Given the description of an element on the screen output the (x, y) to click on. 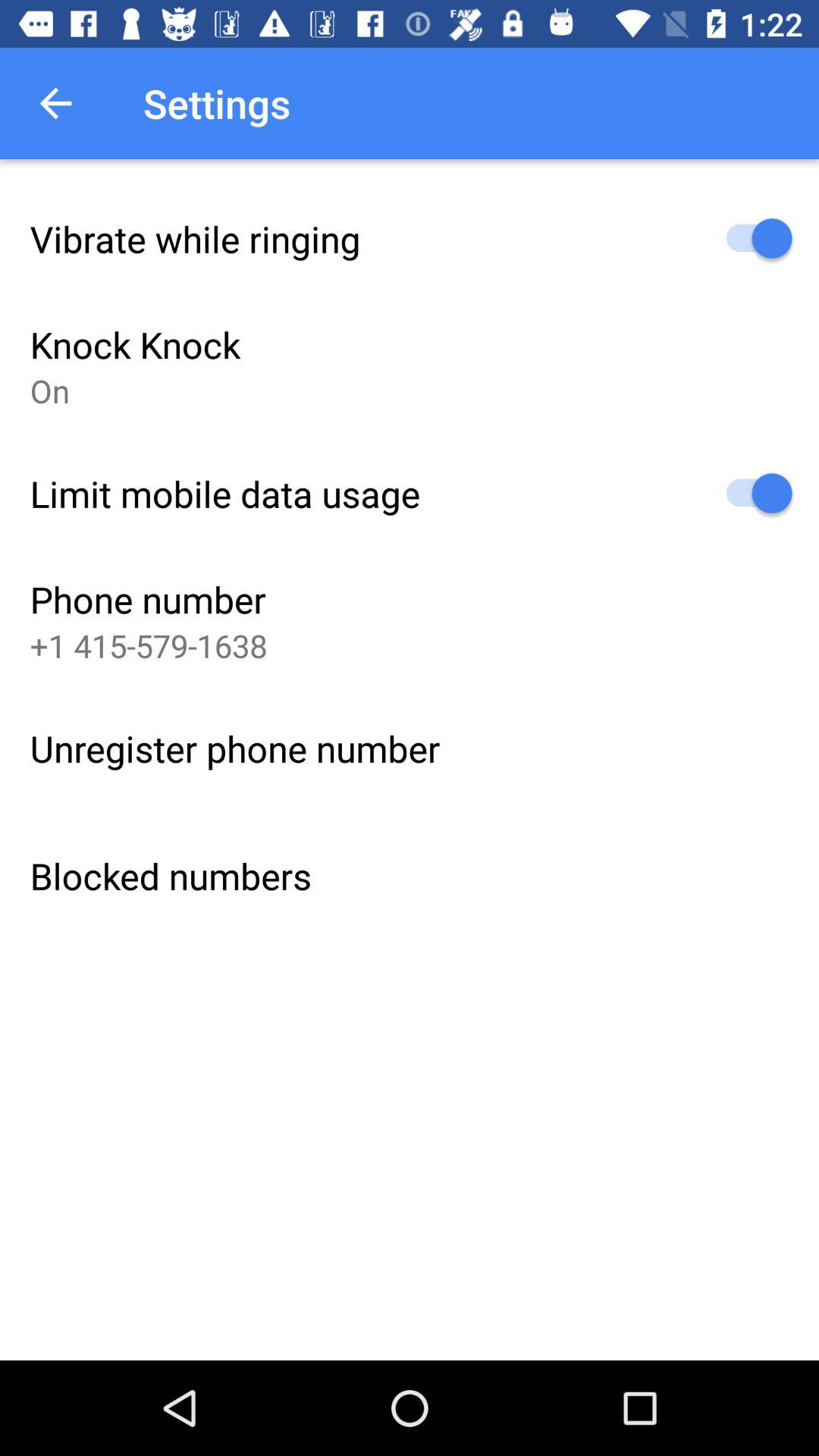
open item above the knock knock icon (195, 238)
